Given the description of an element on the screen output the (x, y) to click on. 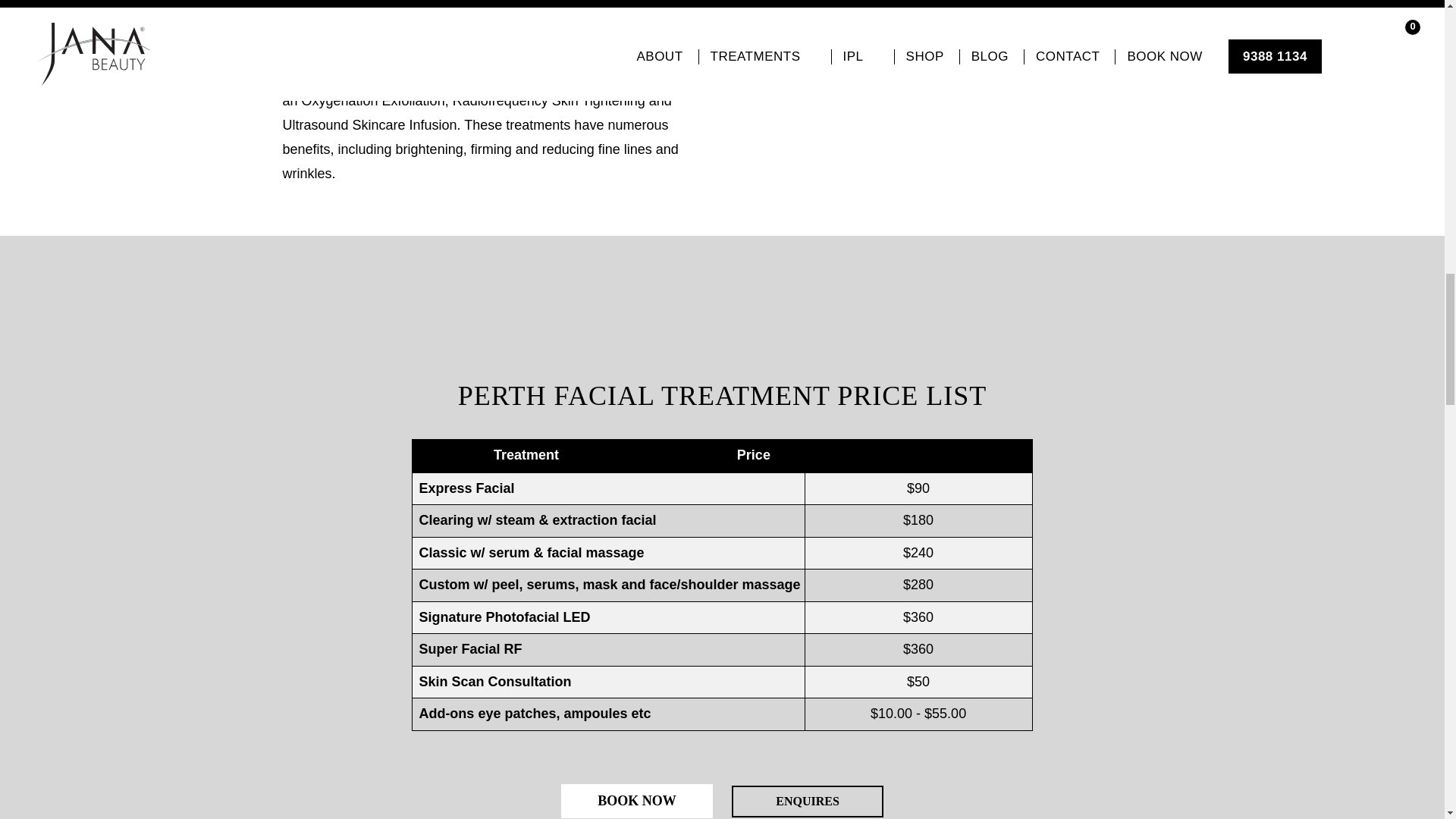
ENQUIRES (807, 801)
BOOK NOW (636, 801)
